Given the description of an element on the screen output the (x, y) to click on. 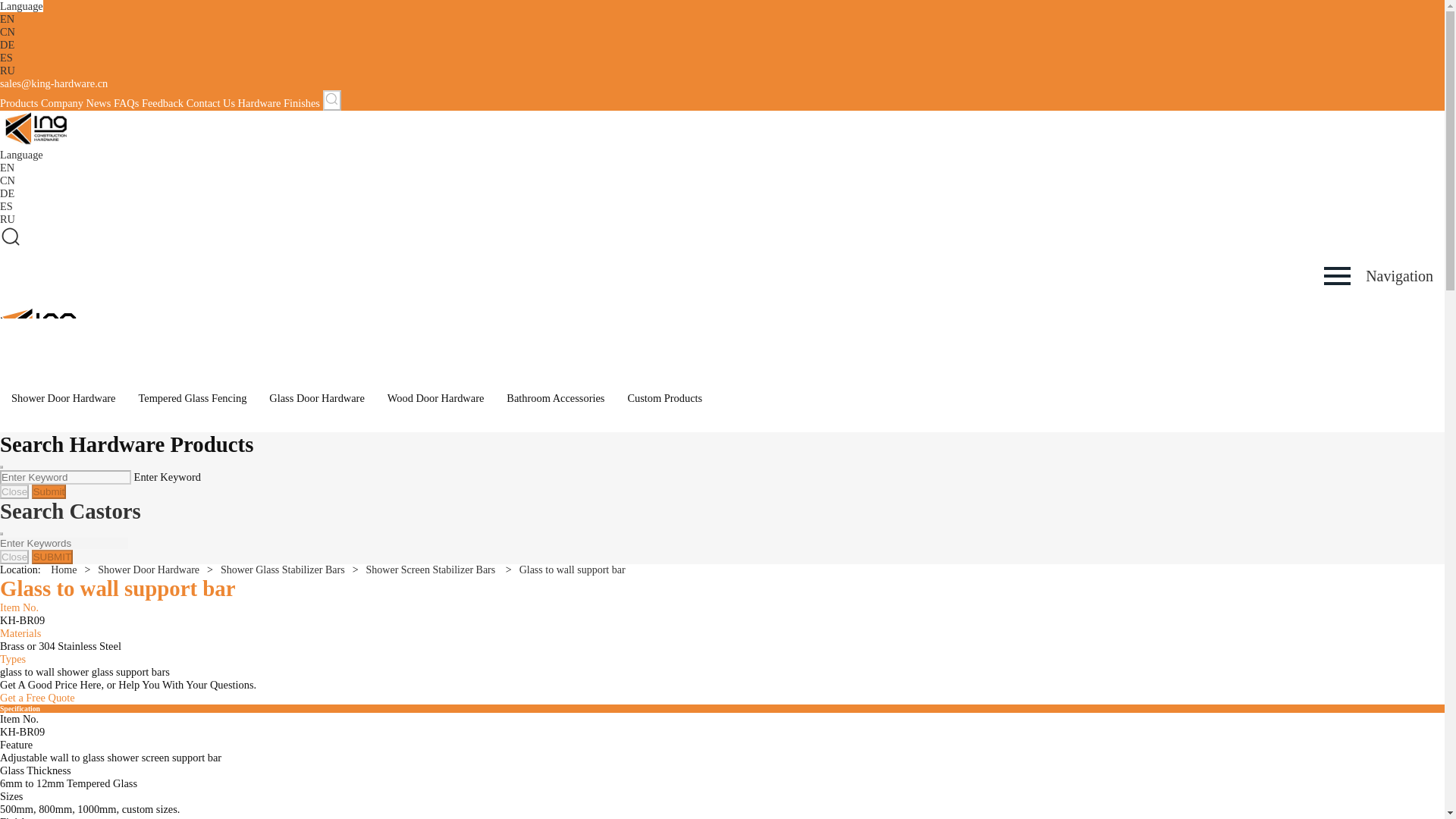
RU (7, 218)
CN (7, 31)
Language (21, 154)
Language (21, 6)
Products (18, 102)
Feedback (162, 102)
Contact Us (210, 102)
EN (7, 19)
News (98, 102)
News (98, 102)
